Given the description of an element on the screen output the (x, y) to click on. 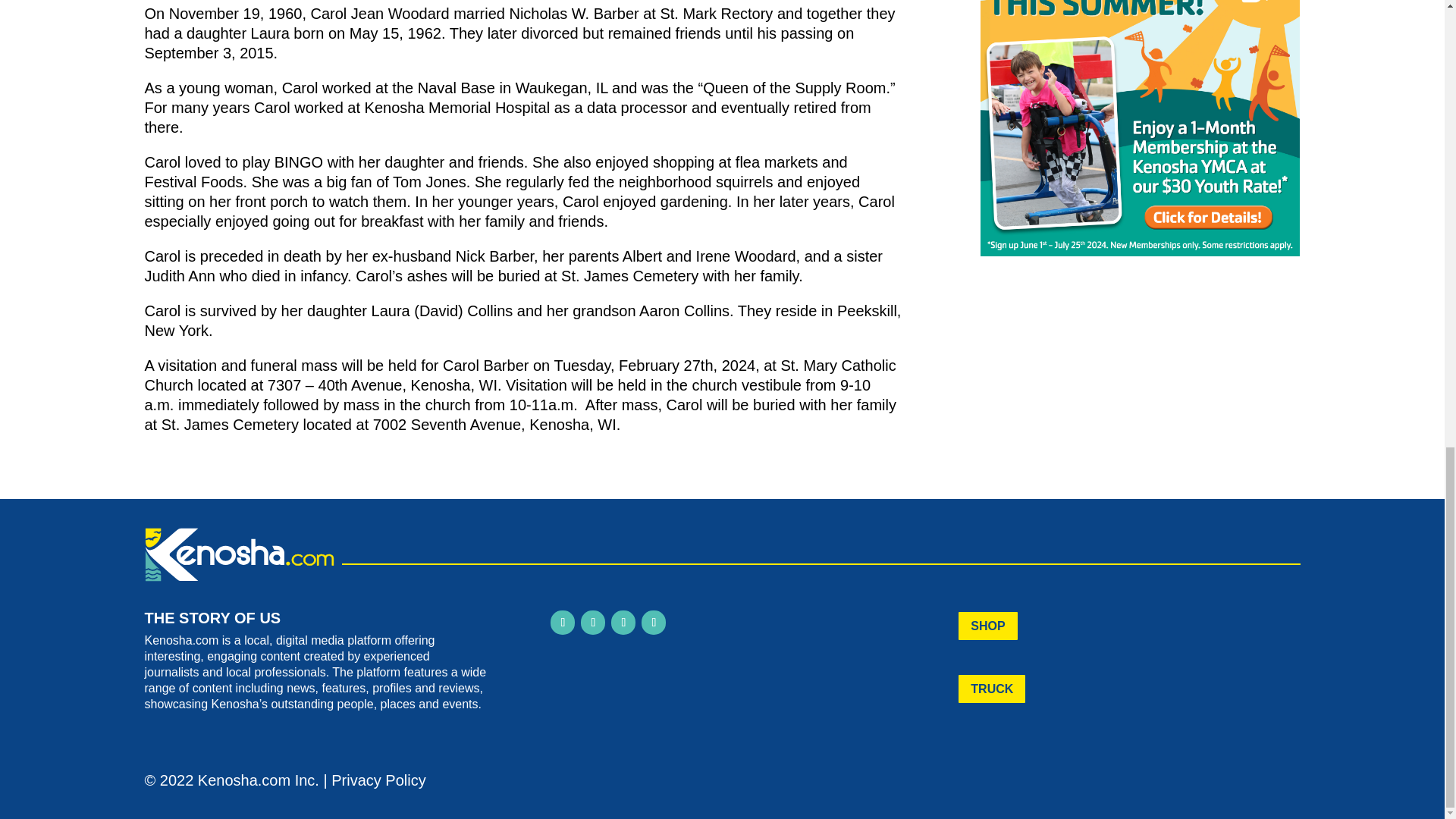
Follow on Facebook (562, 622)
footer-logo (238, 554)
Follow on Instagram (592, 622)
